Given the description of an element on the screen output the (x, y) to click on. 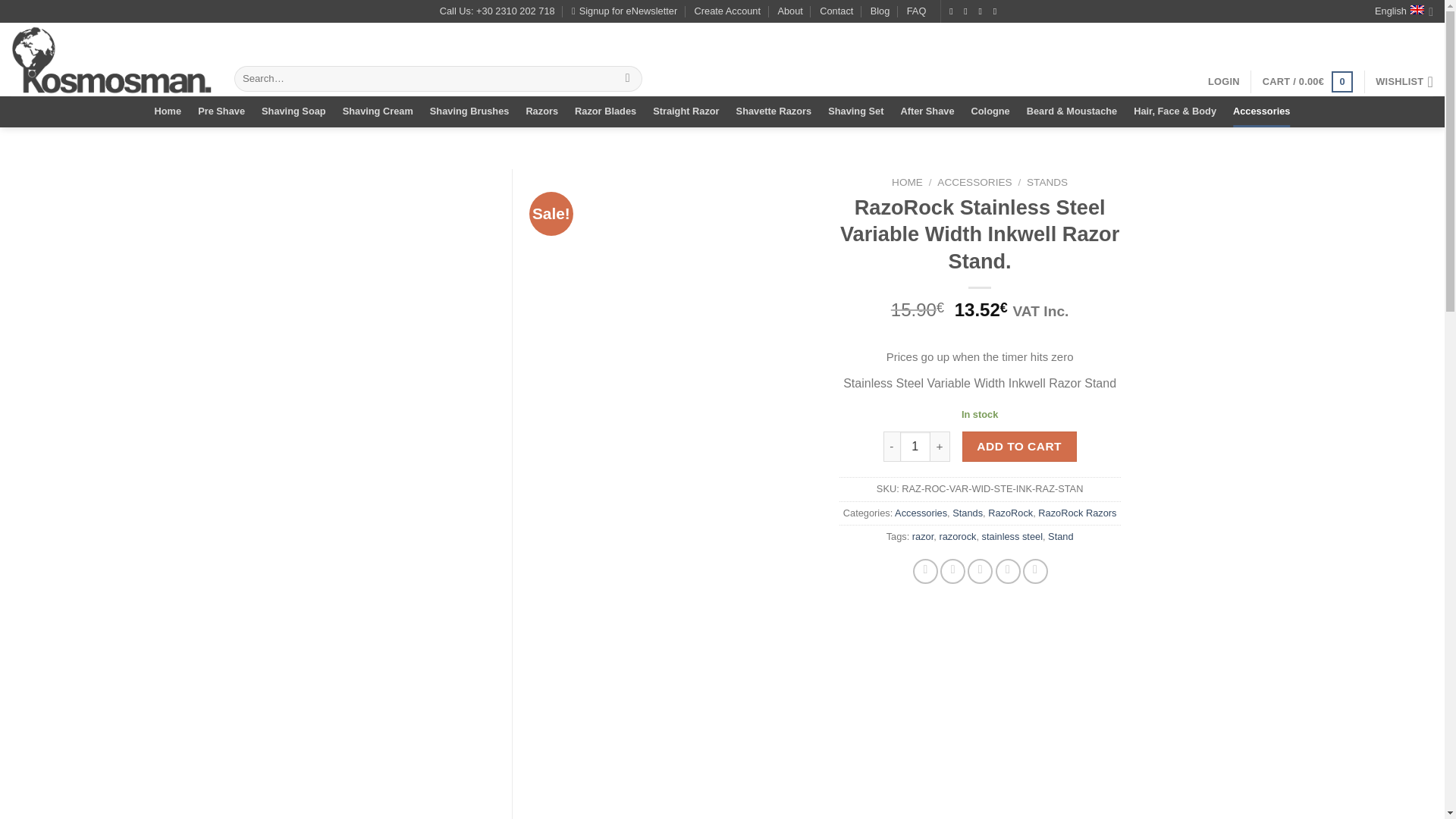
Share on Twitter (952, 570)
Login (1224, 81)
English (1403, 11)
Straight Razor (685, 111)
Shavette Razors (774, 111)
Signup for eNewsletter (624, 11)
Shaving Brushes (469, 111)
Shaving Soap (294, 111)
Home (168, 111)
Wishlist (1403, 81)
